Given the description of an element on the screen output the (x, y) to click on. 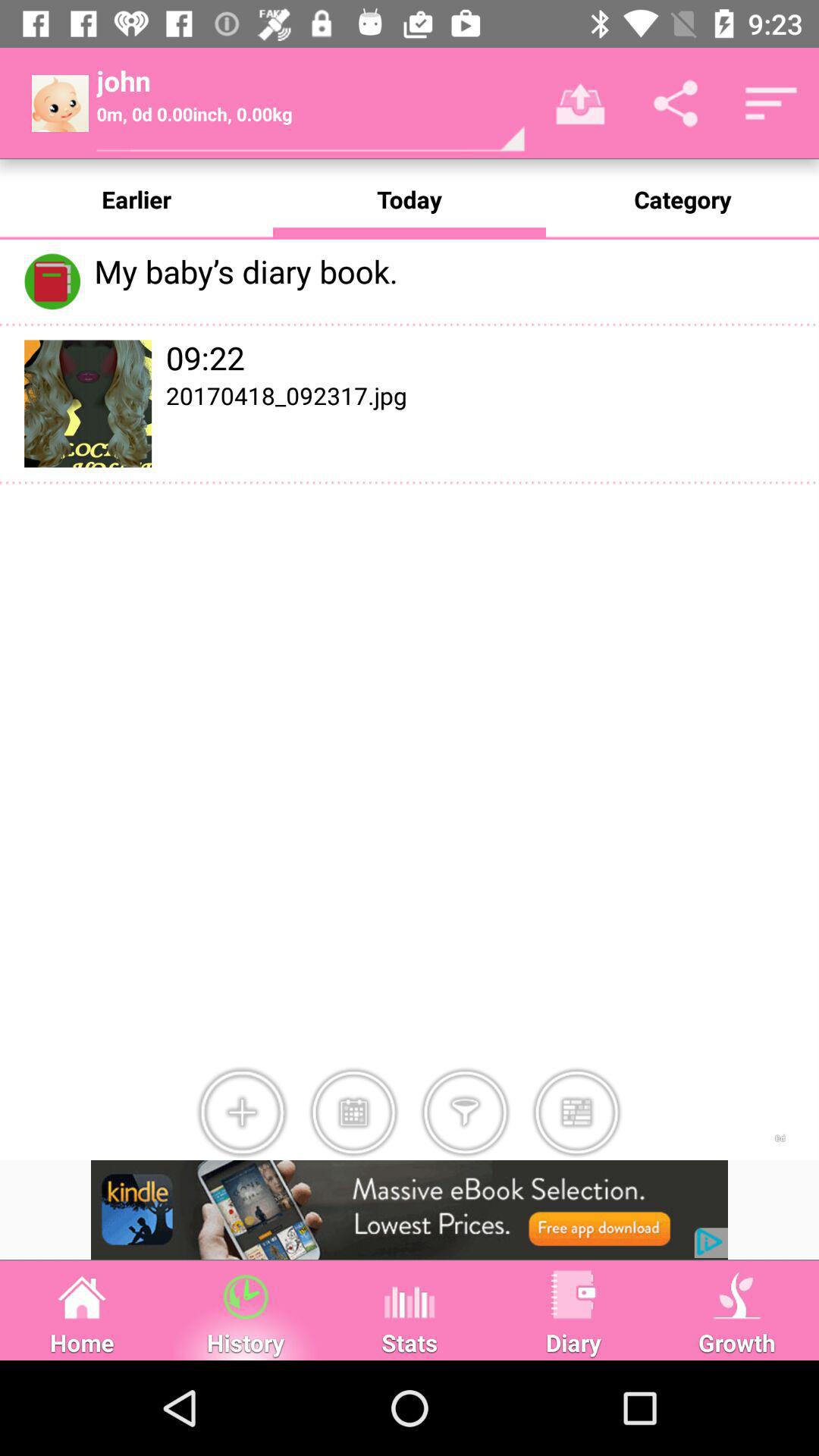
view calendar (353, 1112)
